Given the description of an element on the screen output the (x, y) to click on. 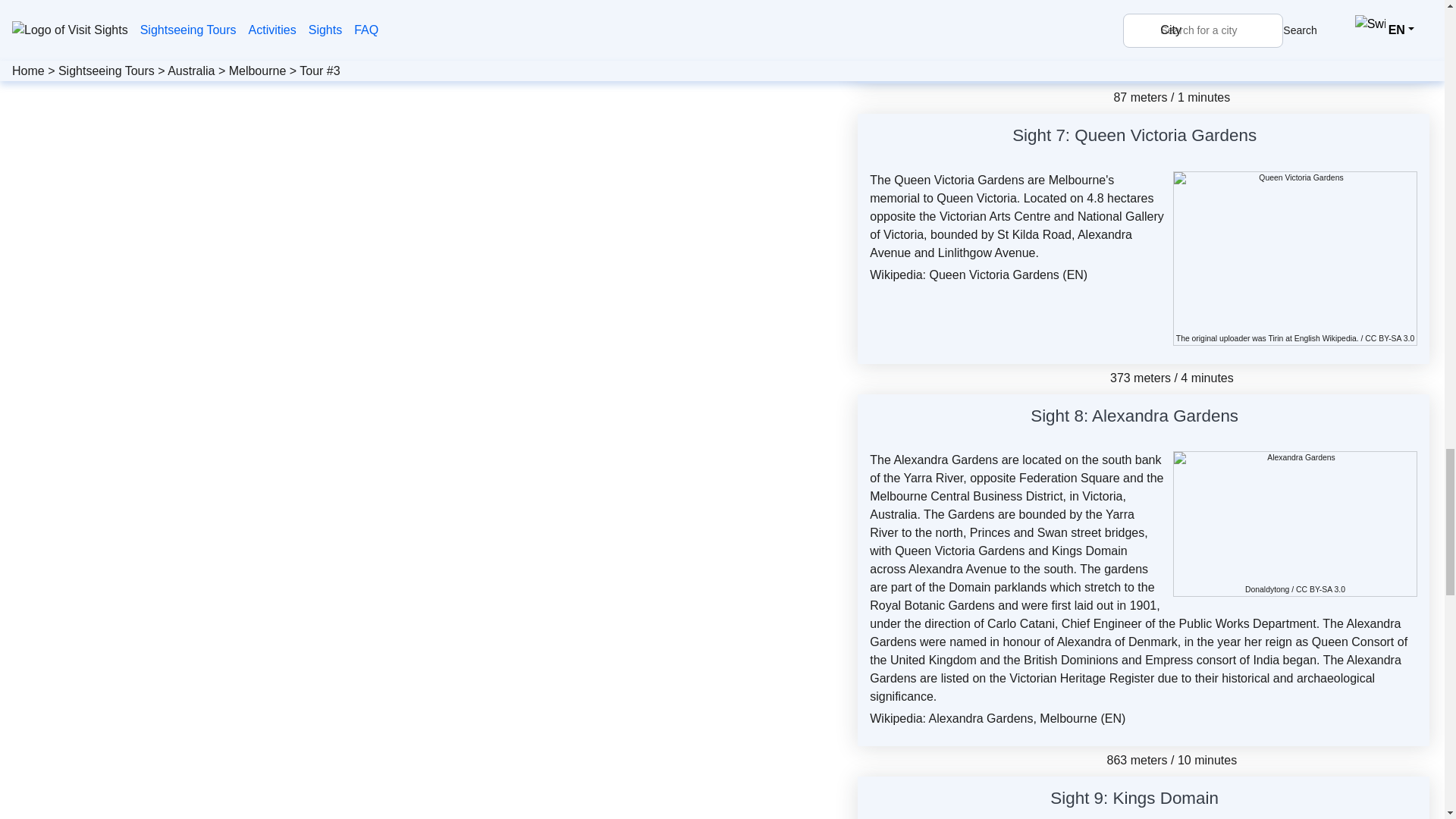
wikipedia: (1325, 338)
User:Elekhh (1267, 31)
wikipedia:User:Tirin (1275, 338)
User:Donaldytong (1266, 589)
